Given the description of an element on the screen output the (x, y) to click on. 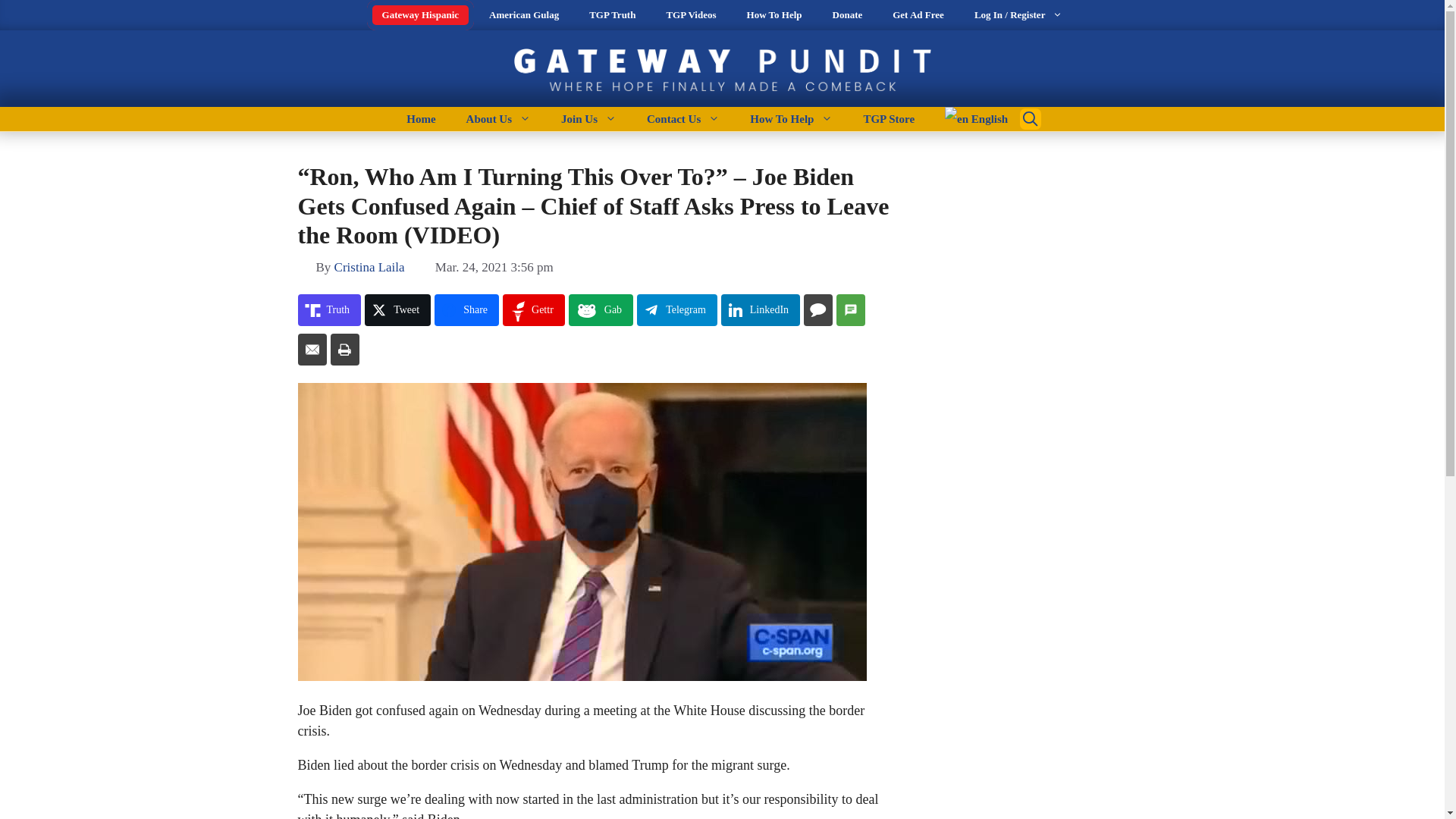
TGP Truth (611, 15)
Donate (846, 15)
American Gulag (523, 15)
About Us (498, 119)
Get Ad Free (918, 15)
Share on Truth (329, 309)
Join Us (588, 119)
Share on Telegram (677, 309)
Share on Gab (601, 309)
Share on Share (466, 309)
TGP Videos (690, 15)
Contact Us (683, 119)
TGP Store (888, 119)
View all posts by Cristina Laila (369, 267)
